Given the description of an element on the screen output the (x, y) to click on. 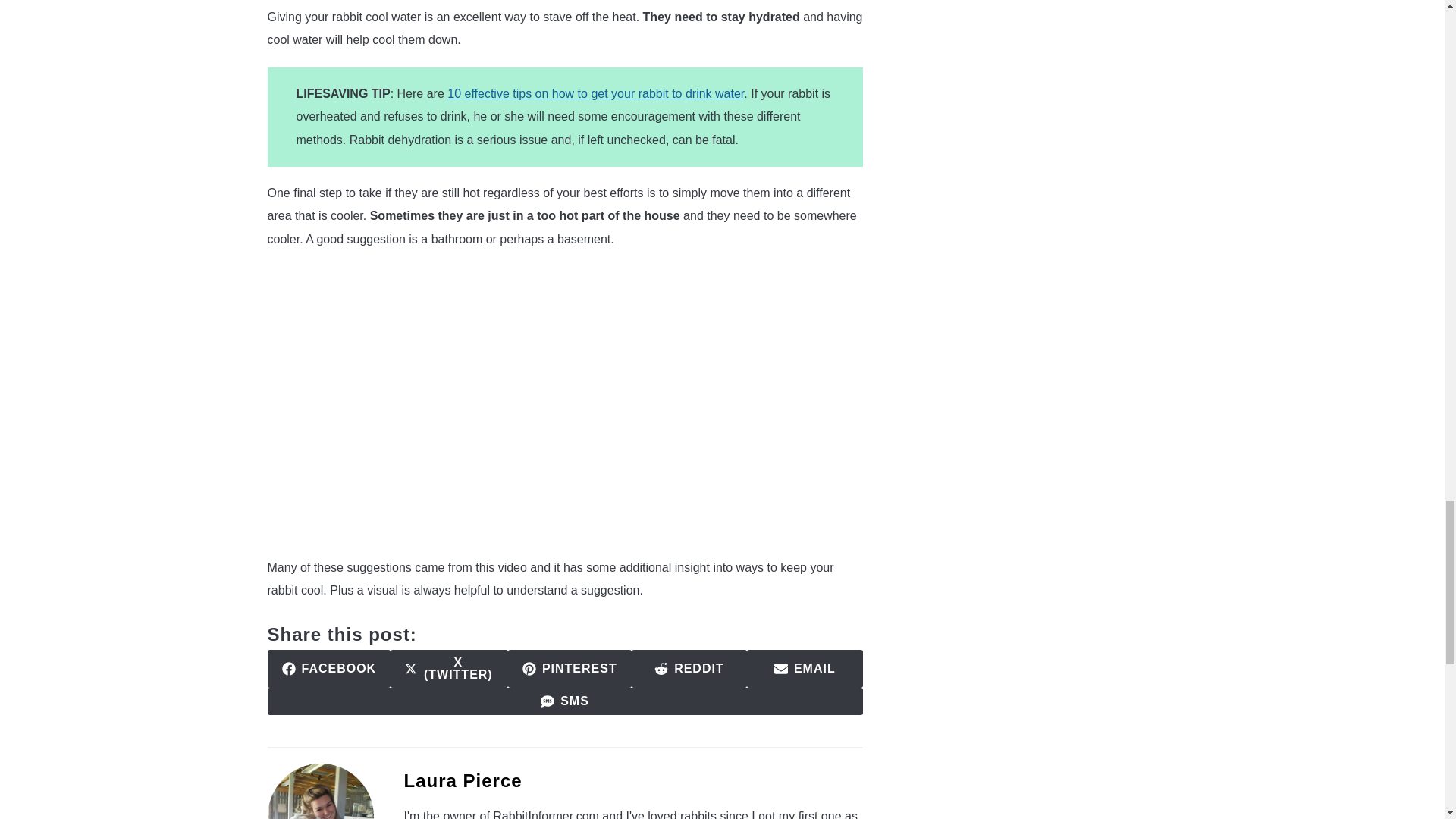
10 effective tips on how to get your rabbit to drink water (595, 92)
Laura Pierce (328, 668)
How To Keep A Rabbit Cool (563, 700)
